Given the description of an element on the screen output the (x, y) to click on. 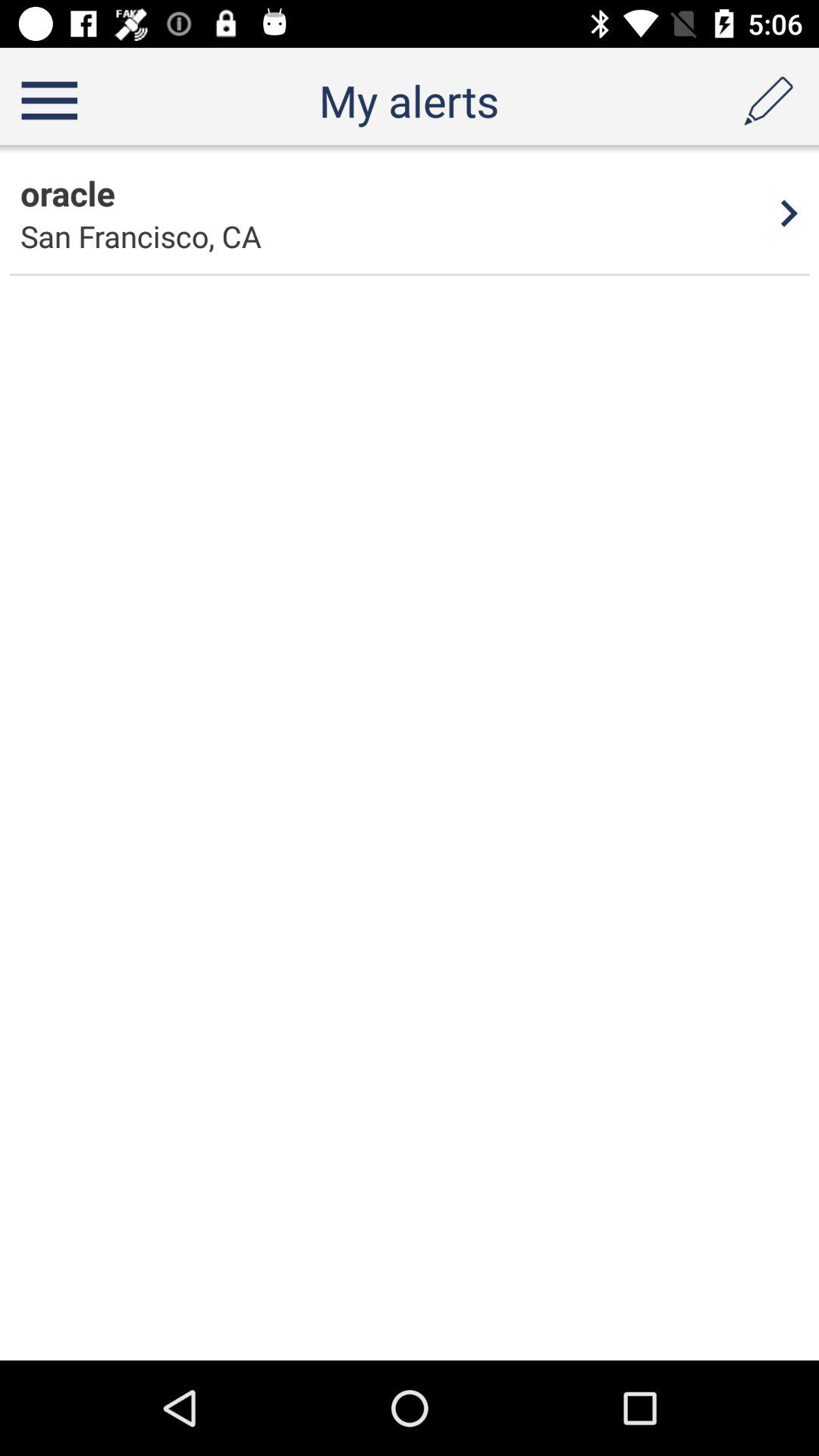
open item to the left of the 4 (140, 236)
